Given the description of an element on the screen output the (x, y) to click on. 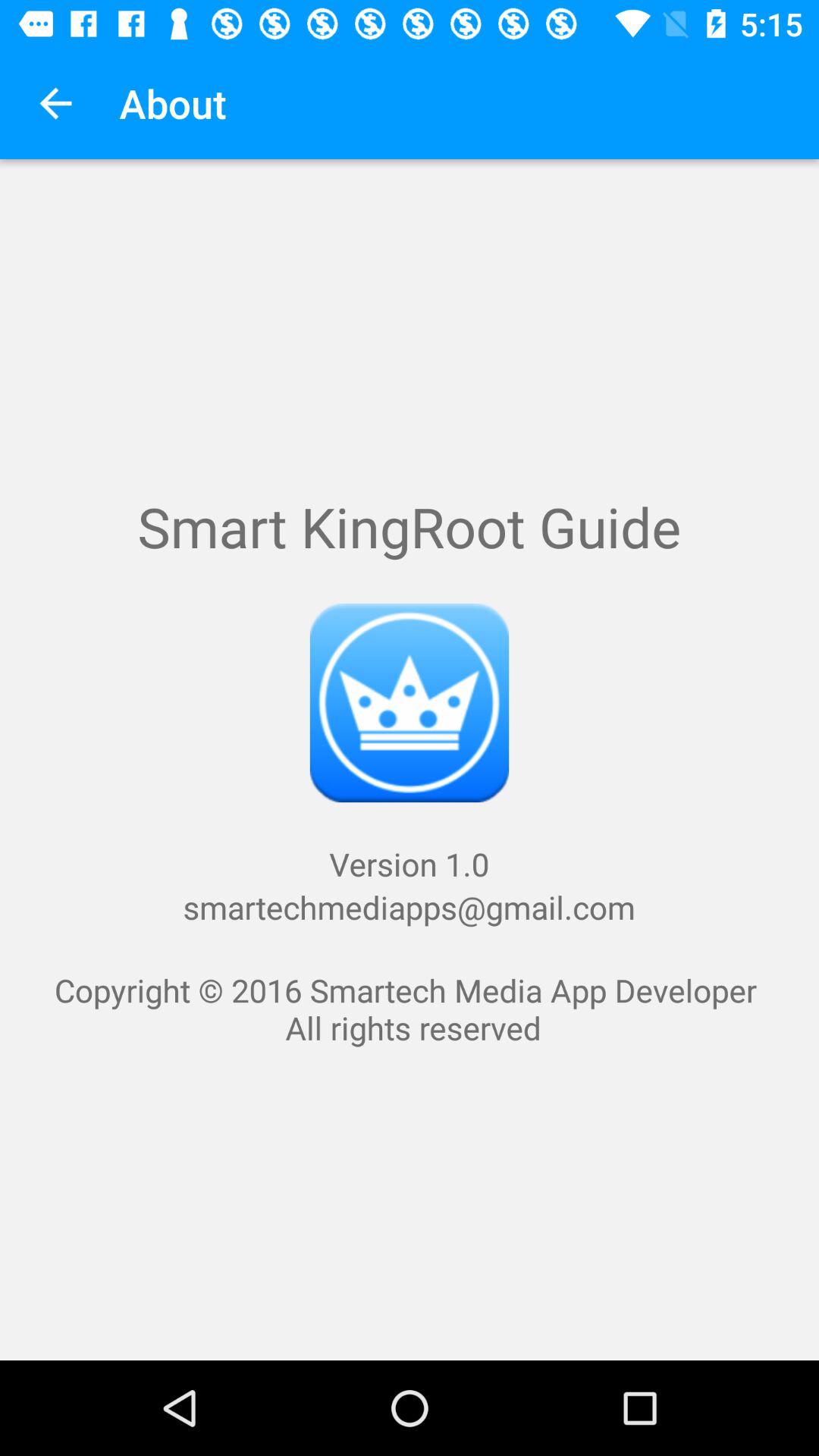
launch the icon to the left of the about icon (55, 103)
